Given the description of an element on the screen output the (x, y) to click on. 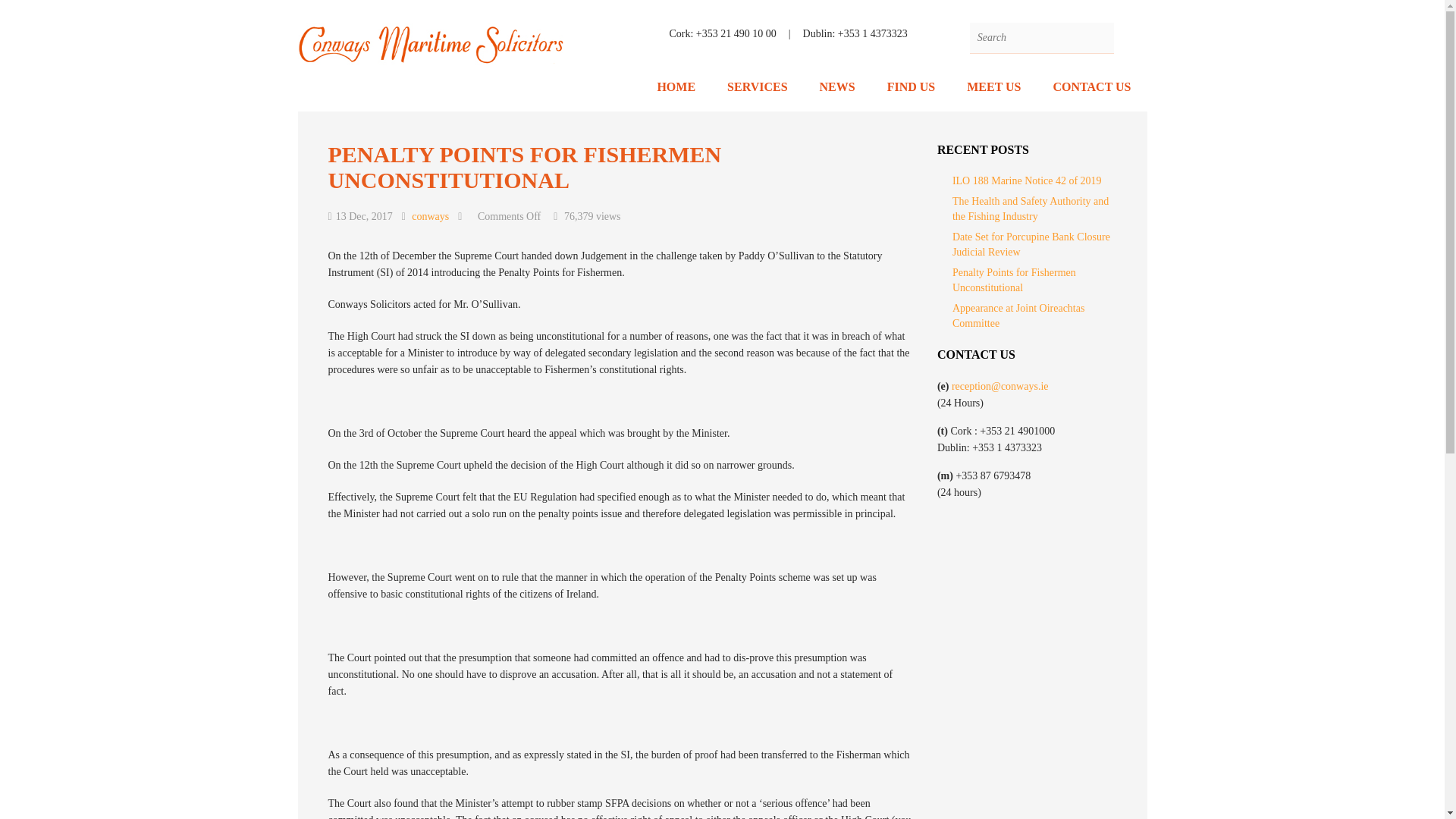
ILO 188 Marine Notice 42 of 2019 (1027, 180)
Appearance at Joint Oireachtas Committee (1018, 315)
Penalty Points for Fishermen Unconstitutional (1013, 279)
FIND US (911, 88)
Date Set for Porcupine Bank Closure Judicial Review (1030, 243)
Posts by conways (430, 215)
The Health and Safety Authority and the Fishing Industry (1030, 208)
HOME (675, 88)
NEWS (836, 88)
CONTACT US (1091, 88)
MEET US (993, 88)
conways (430, 215)
SERVICES (757, 88)
